Given the description of an element on the screen output the (x, y) to click on. 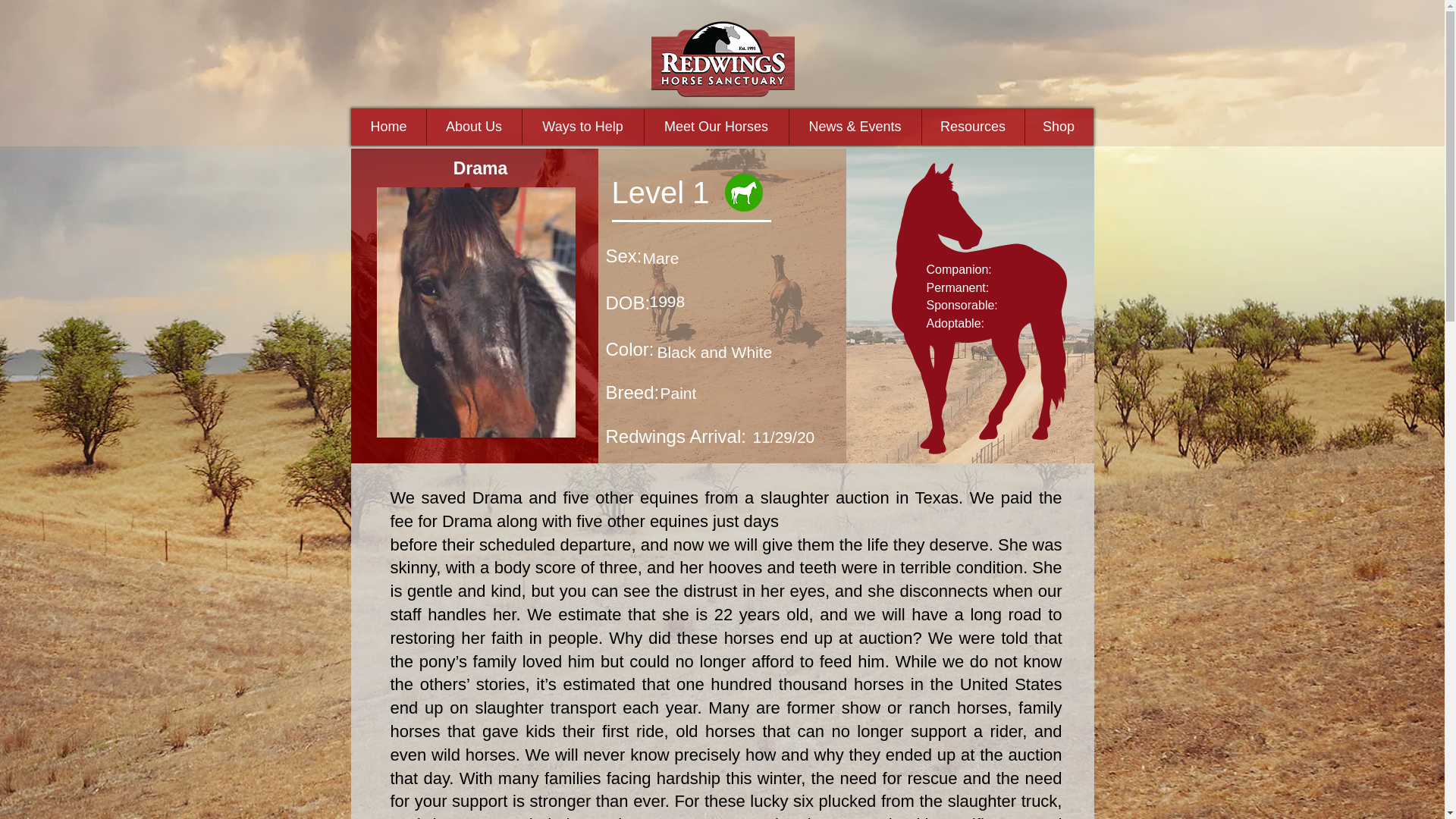
Redwingsnewlogo (721, 59)
Copy of level-1.png (742, 192)
Home (389, 126)
